Given the description of an element on the screen output the (x, y) to click on. 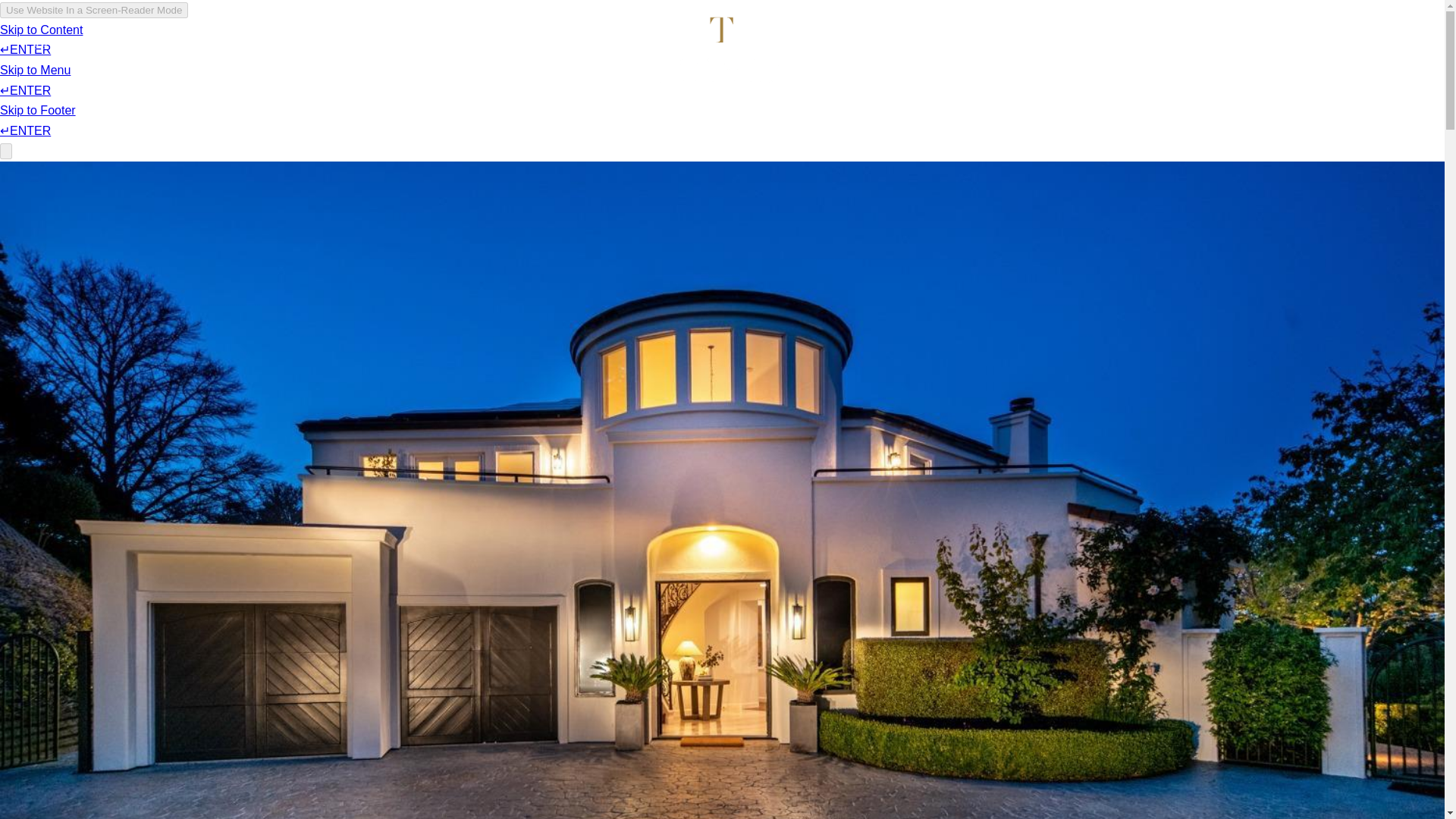
PROPERTIES (83, 86)
BLOG (295, 77)
HOME SEARCH (205, 80)
CONTACT (1222, 70)
AREA GUIDES (1121, 71)
